Given the description of an element on the screen output the (x, y) to click on. 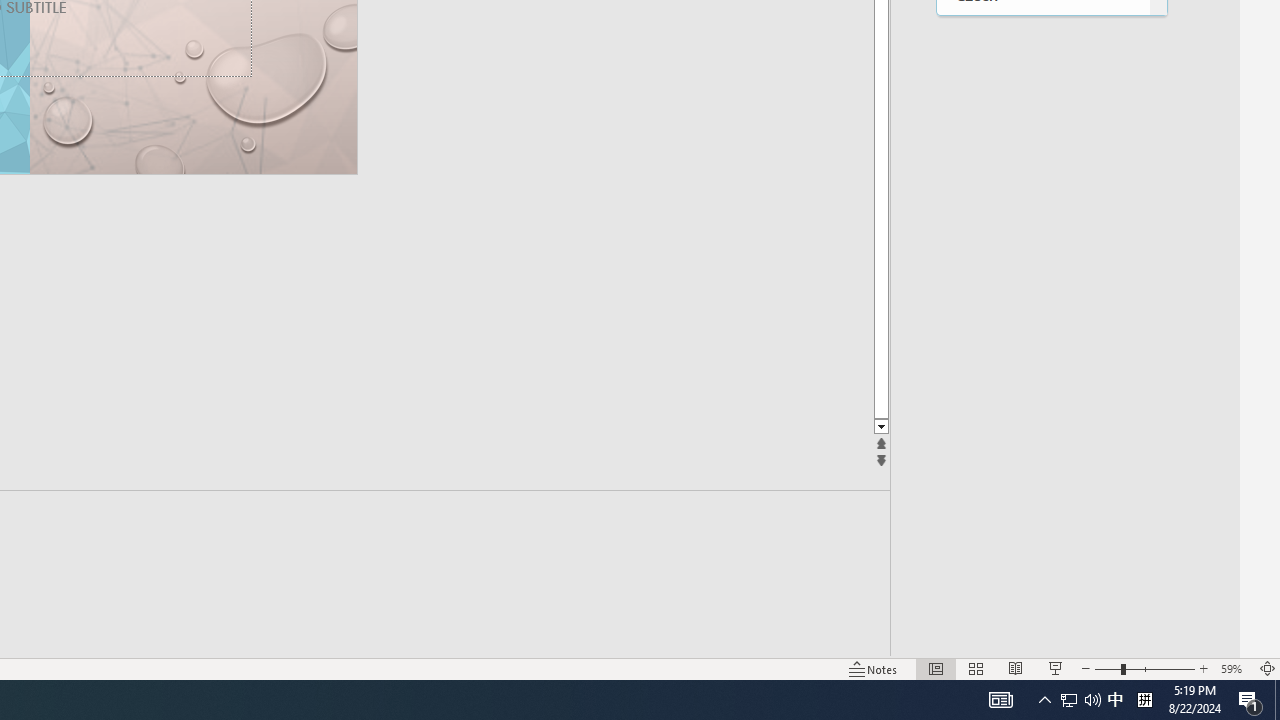
Dari (1042, 74)
Zoom 59% (1234, 668)
Divehi (1042, 115)
Georgian (1042, 649)
Faroese (1042, 321)
Danish (1042, 34)
Dutch (1042, 197)
Galician (1042, 567)
French (1042, 485)
Filipino (1042, 403)
French (Canada) (1042, 526)
